Given the description of an element on the screen output the (x, y) to click on. 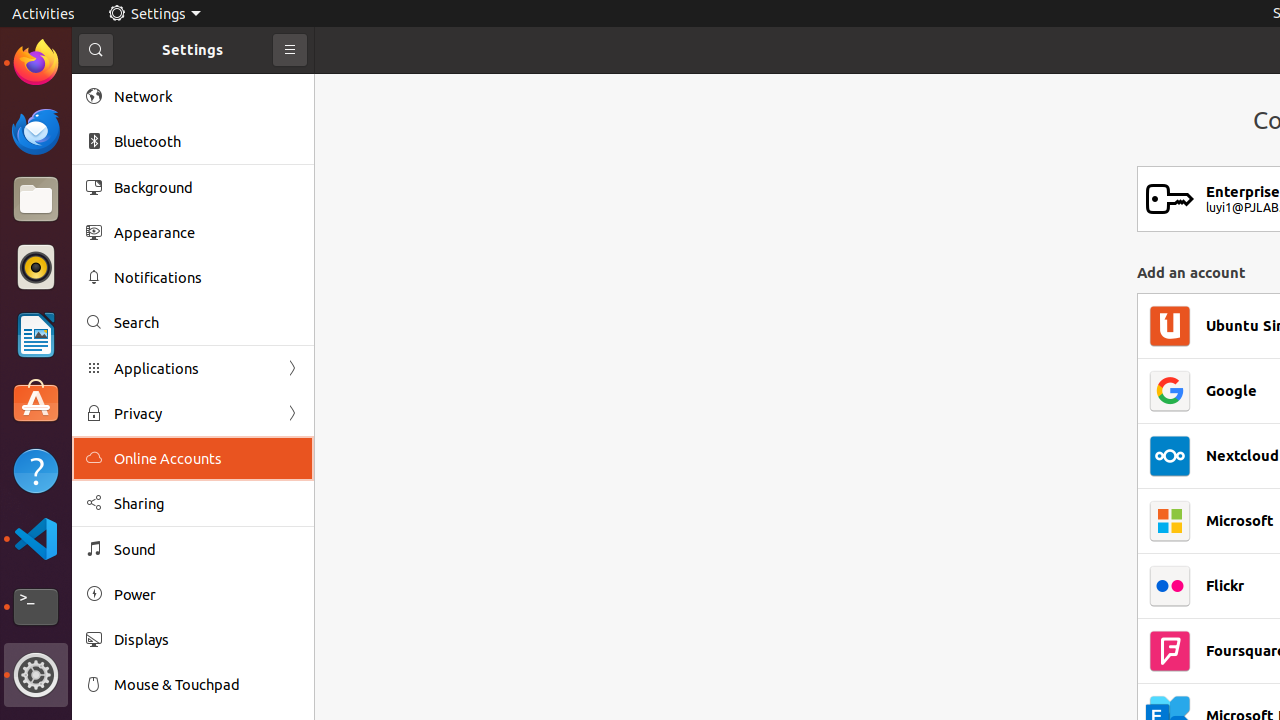
Trash Element type: label (133, 191)
Applications Element type: label (193, 368)
IsaHelpMain.desktop Element type: label (133, 300)
